Given the description of an element on the screen output the (x, y) to click on. 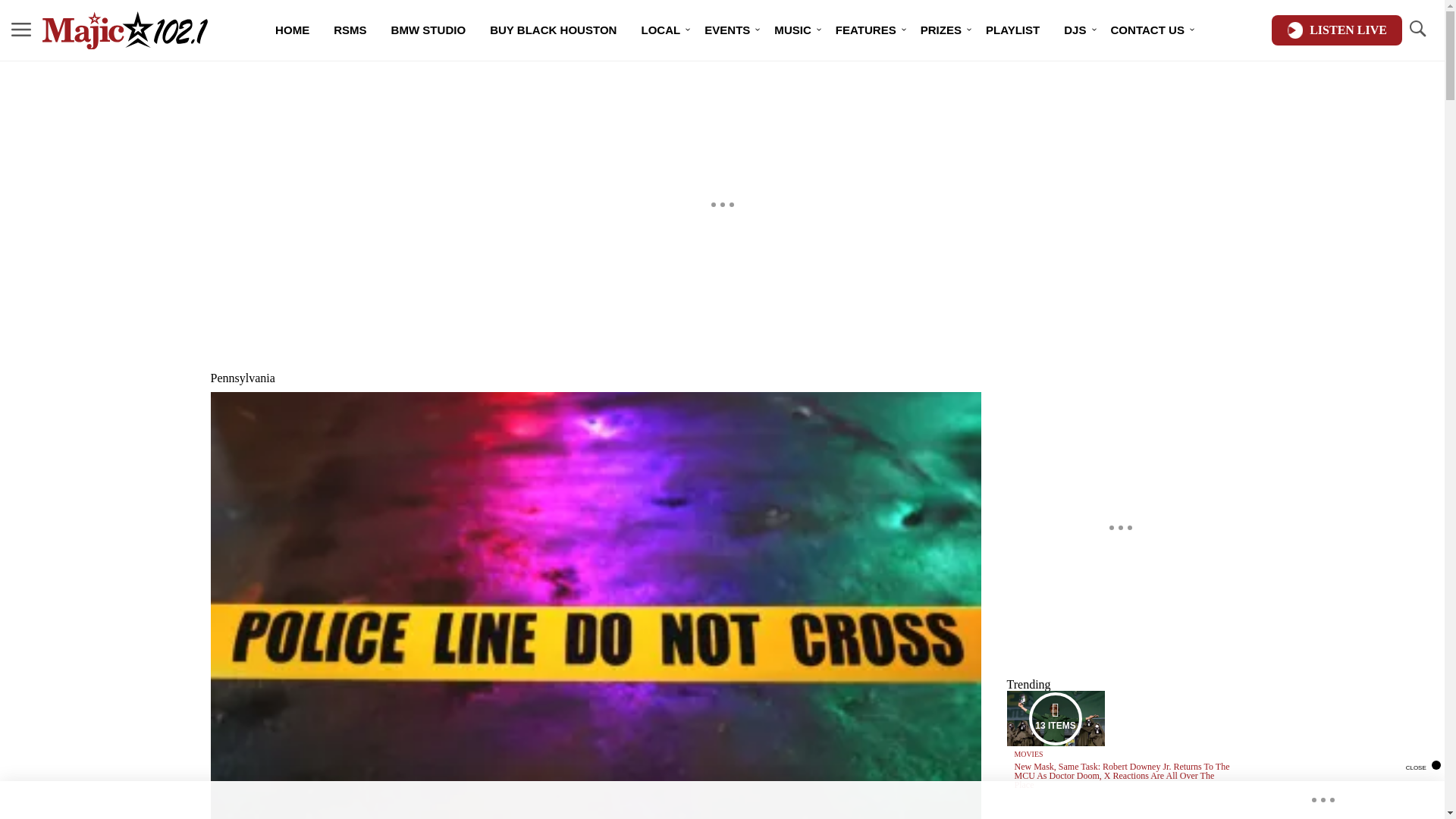
CONTACT US (1147, 30)
MENU (20, 29)
BUY BLACK HOUSTON (552, 30)
Media Playlist (1055, 717)
PRIZES (941, 30)
FEATURES (866, 30)
HOME (292, 30)
MENU (20, 30)
PLAYLIST (1012, 30)
RSMS (349, 30)
BMW STUDIO (428, 30)
EVENTS (727, 30)
LOCAL (660, 30)
MUSIC (791, 30)
TOGGLE SEARCH (1417, 28)
